Given the description of an element on the screen output the (x, y) to click on. 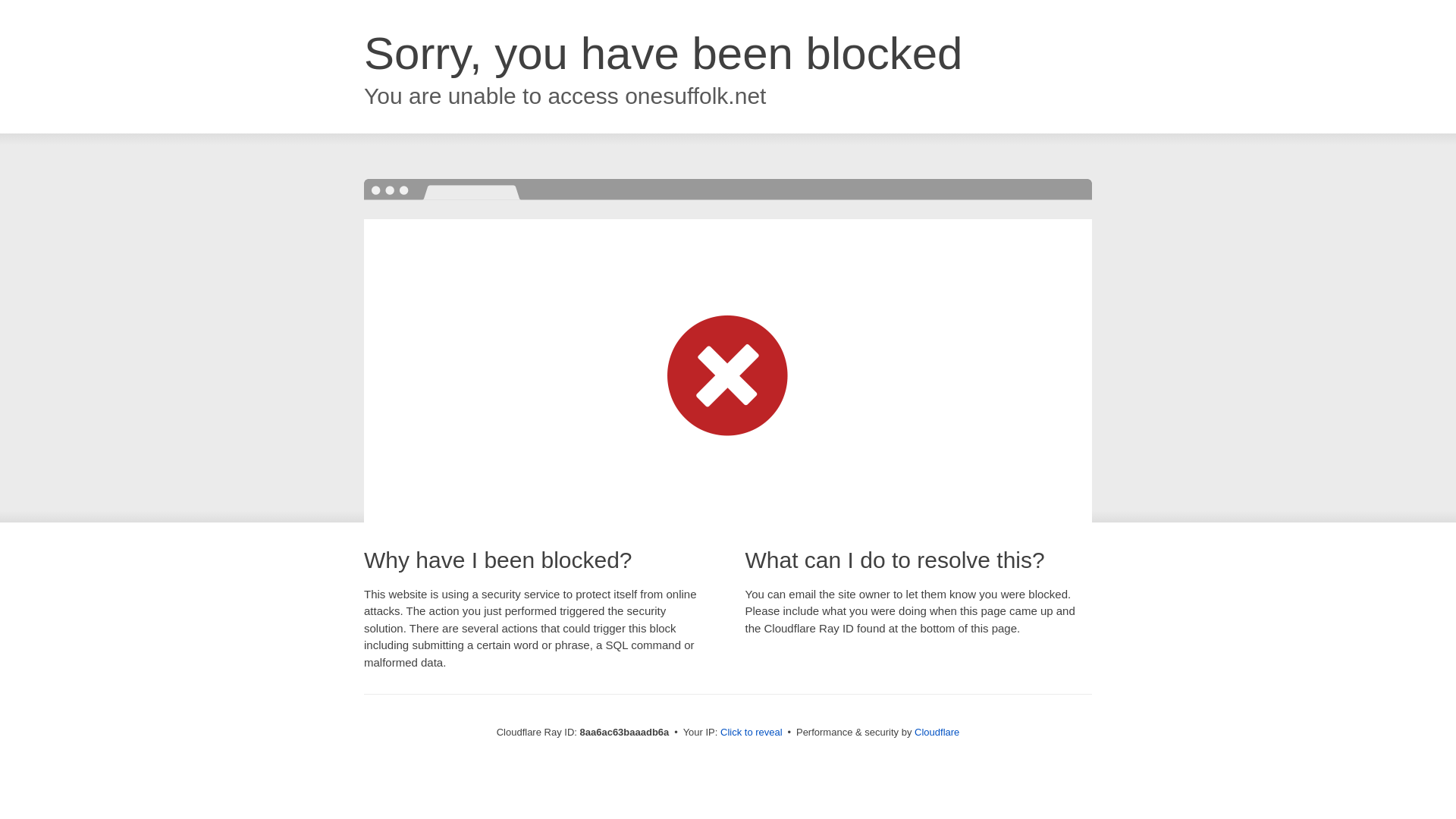
Click to reveal (751, 732)
Cloudflare (936, 731)
